Given the description of an element on the screen output the (x, y) to click on. 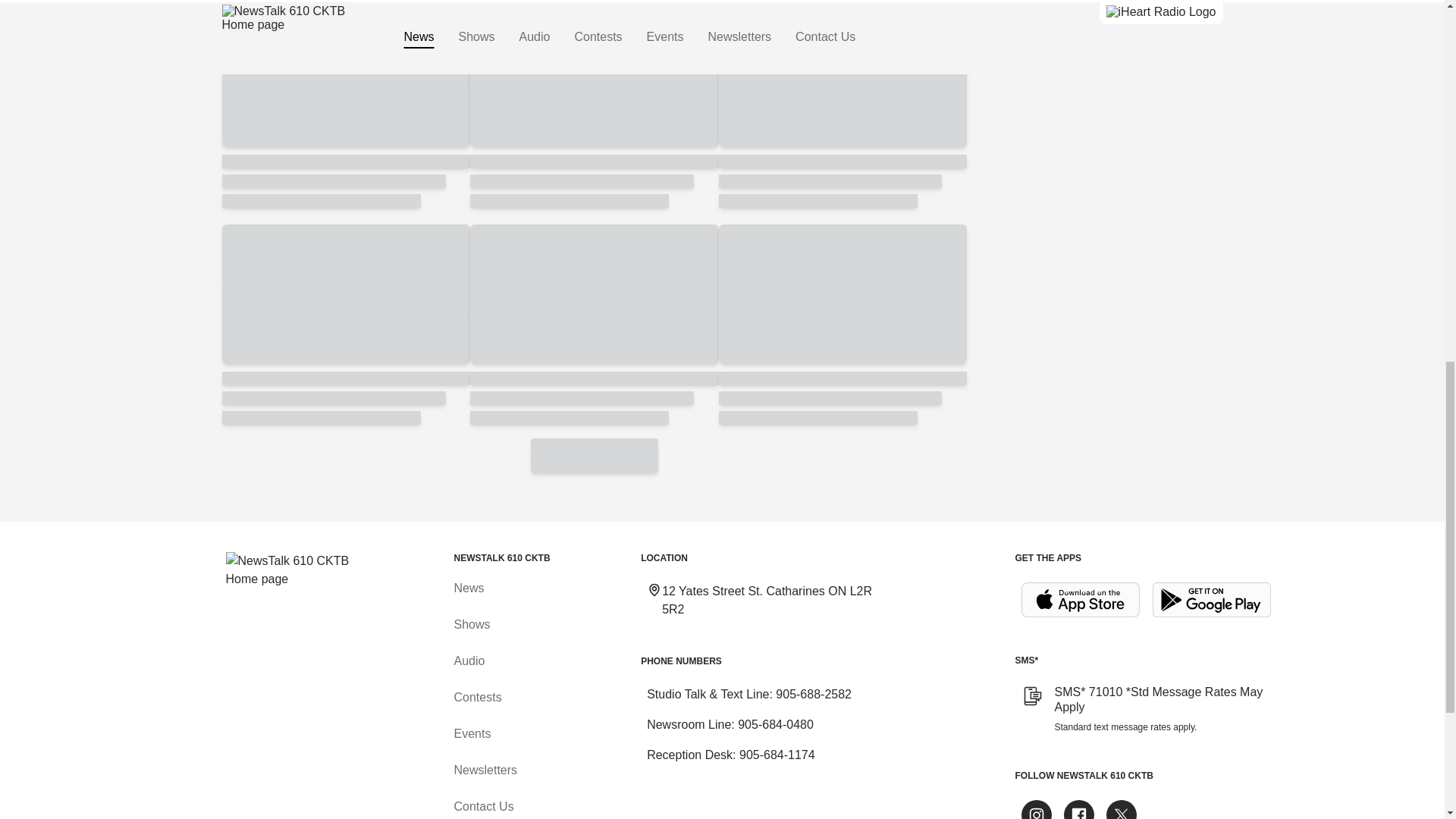
Contests (476, 697)
Events (471, 733)
Shows (470, 624)
Download on the App Store (1080, 600)
Contact Us (482, 806)
Newsletters (484, 769)
905-684-1174 (777, 754)
Audio (468, 660)
Get it on Google Play (1212, 600)
News (467, 587)
